Given the description of an element on the screen output the (x, y) to click on. 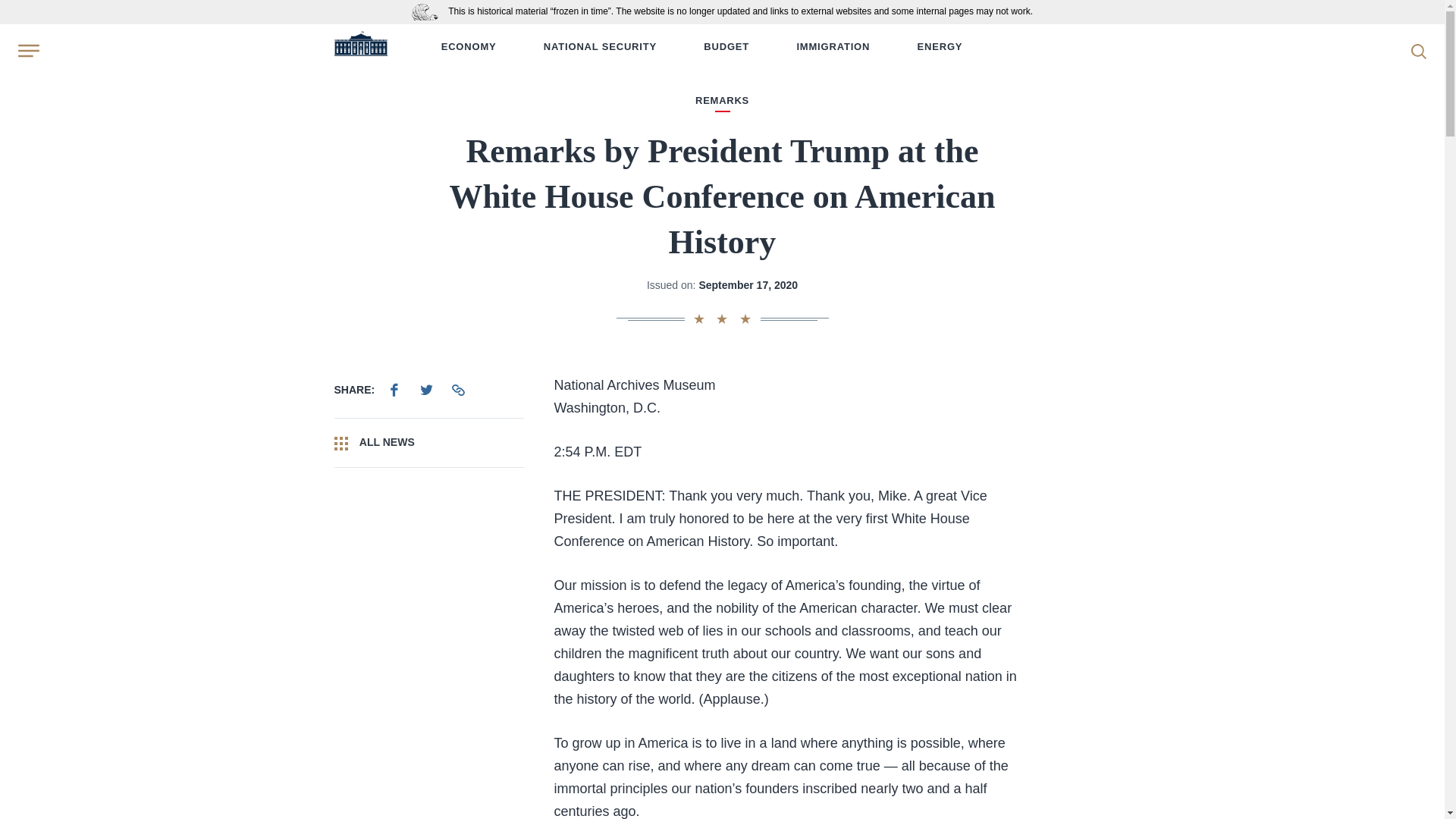
BUDGET (726, 46)
National Archives (428, 10)
ENERGY (939, 46)
ECONOMY (468, 46)
IMMIGRATION (832, 46)
WhiteHouse.gov (360, 46)
NATIONAL SECURITY (599, 46)
ALL NEWS (427, 442)
